Given the description of an element on the screen output the (x, y) to click on. 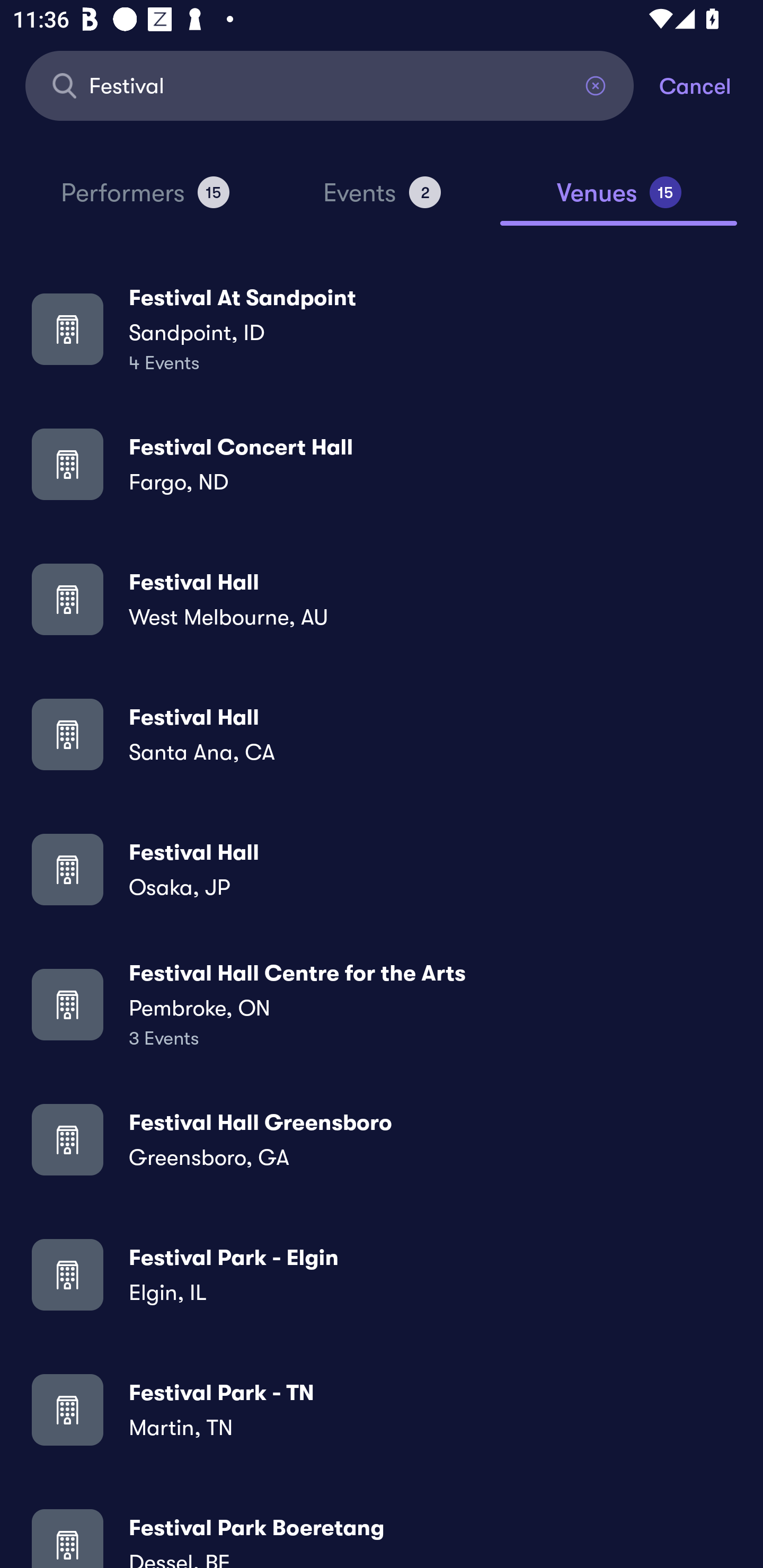
Festival Find (329, 85)
Festival Find (329, 85)
Cancel (711, 85)
Performers 15 (144, 200)
Events 2 (381, 200)
Venues 15 (618, 200)
Festival At Sandpoint Sandpoint, ID 4 Events (381, 328)
Festival Concert Hall Fargo, ND (381, 464)
Festival Hall West Melbourne, AU (381, 598)
Festival Hall Santa Ana, CA (381, 734)
Festival Hall Osaka, JP (381, 869)
Festival Hall Greensboro Greensboro, GA (381, 1138)
Festival Park - Elgin Elgin, IL (381, 1273)
Festival Park - TN Martin, TN (381, 1409)
Festival Park Boeretang Dessel, BE (381, 1532)
